Given the description of an element on the screen output the (x, y) to click on. 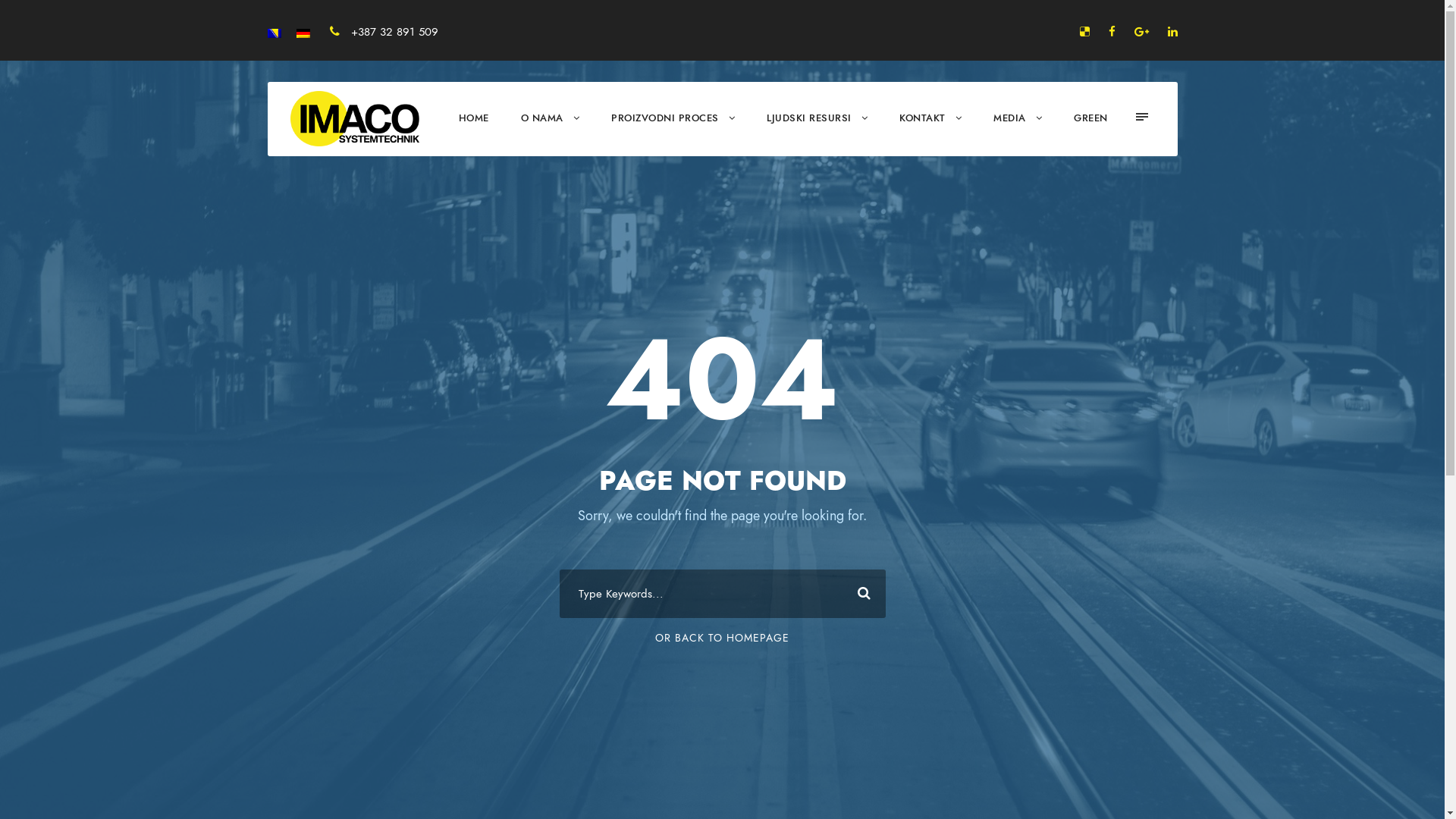
linkedin Element type: hover (1172, 31)
Search Element type: text (860, 593)
GREEN Element type: text (1090, 131)
LJUDSKI RESURSI Element type: text (816, 131)
delicious Element type: hover (1084, 31)
KONTAKT Element type: text (930, 131)
HOME Element type: text (473, 131)
facebook Element type: hover (1111, 31)
OR BACK TO HOMEPAGE Element type: text (722, 637)
PROIZVODNI PROCES Element type: text (672, 131)
MEDIA Element type: text (1017, 131)
logo Element type: hover (353, 118)
google-plus Element type: hover (1141, 31)
O NAMA Element type: text (549, 131)
